Given the description of an element on the screen output the (x, y) to click on. 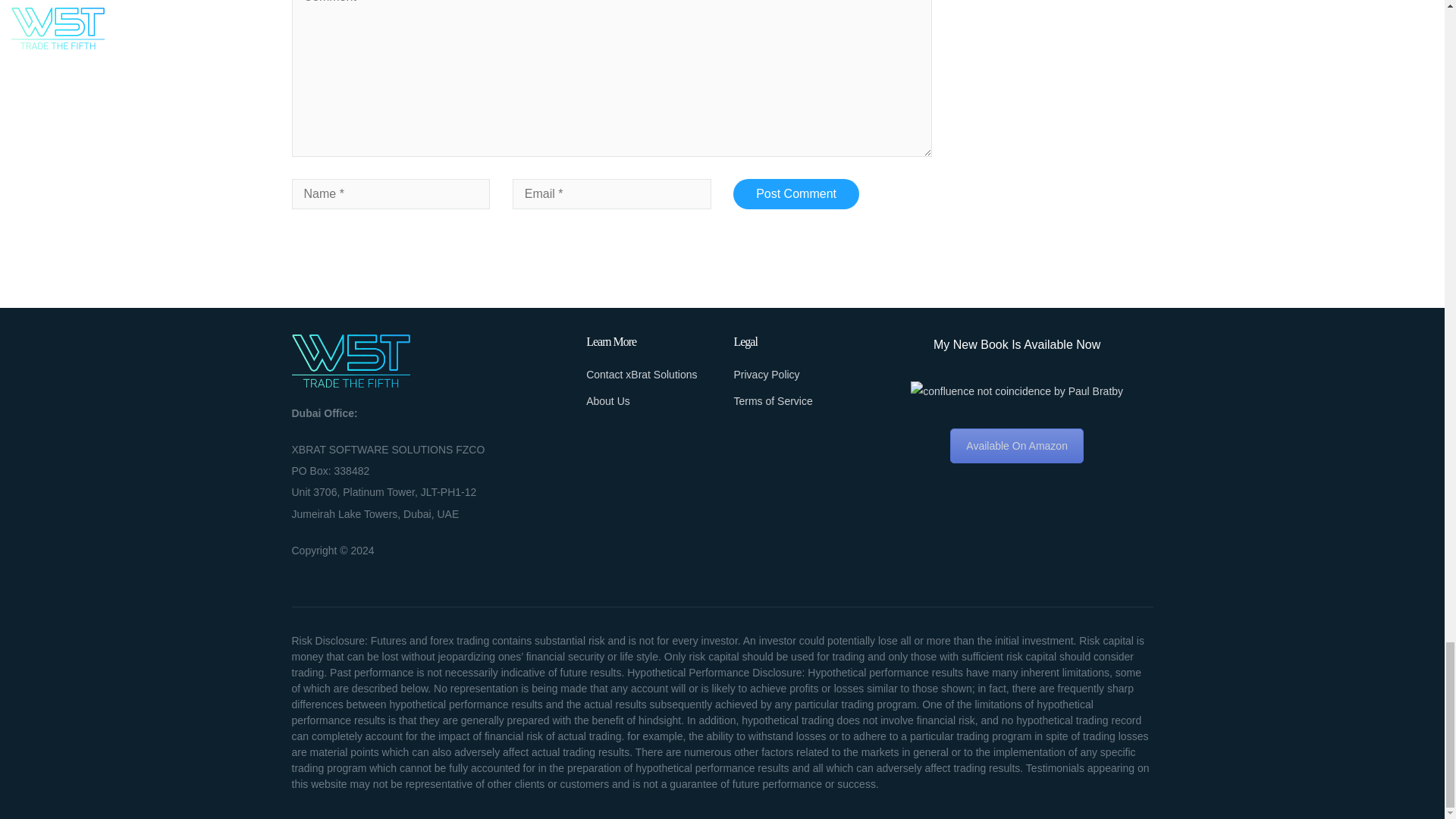
Post Comment (796, 194)
